Given the description of an element on the screen output the (x, y) to click on. 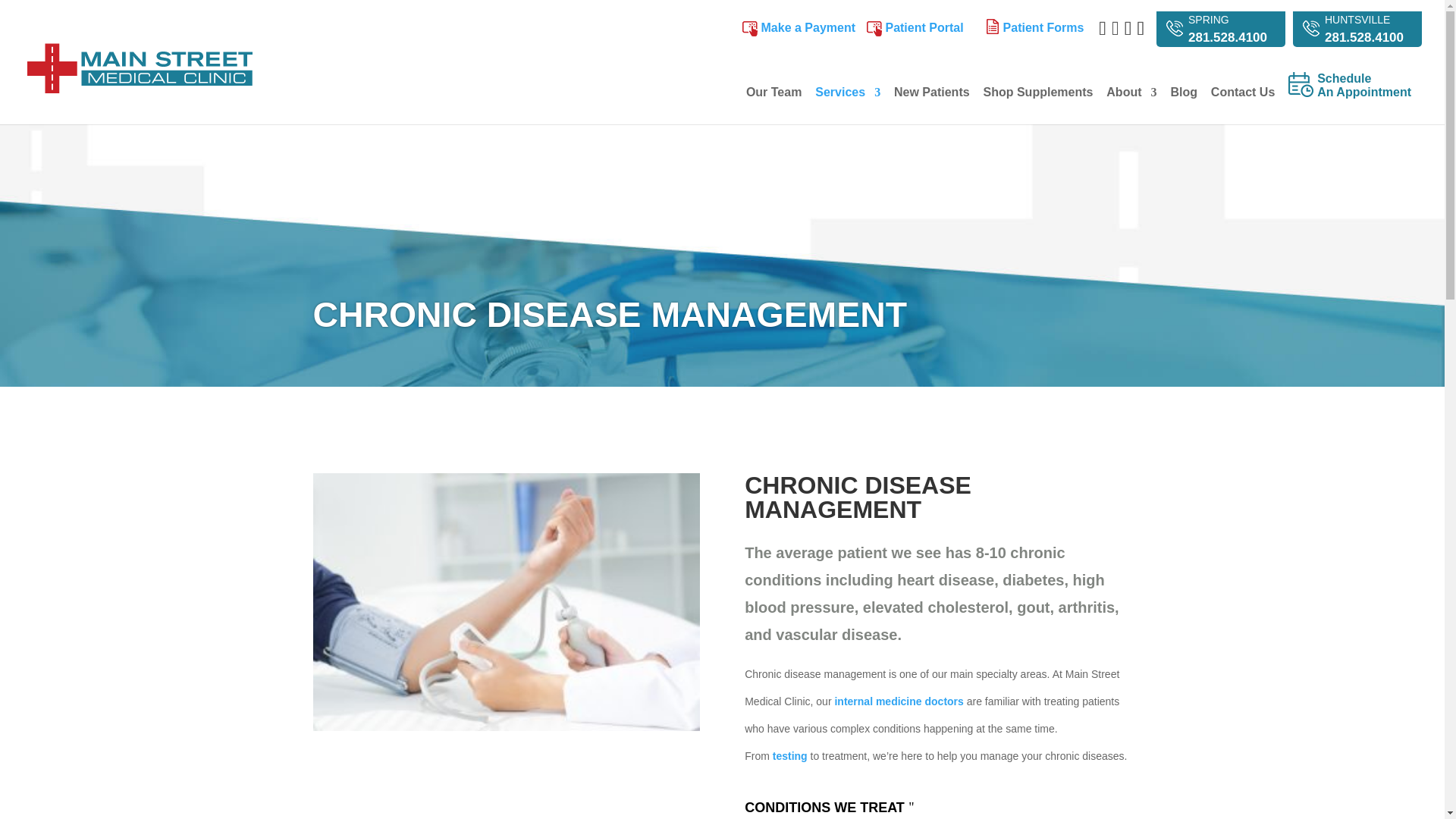
Shop Supplements (1037, 104)
Services (847, 104)
Contact Us (1243, 104)
New Patients (931, 104)
Our Team (773, 104)
281.528.4100 (1363, 37)
chronic-disease (505, 602)
Patient Portal (923, 27)
281.528.4100 (1227, 37)
About (1131, 104)
Make a Payment (1363, 98)
Patient Forms (808, 27)
